Given the description of an element on the screen output the (x, y) to click on. 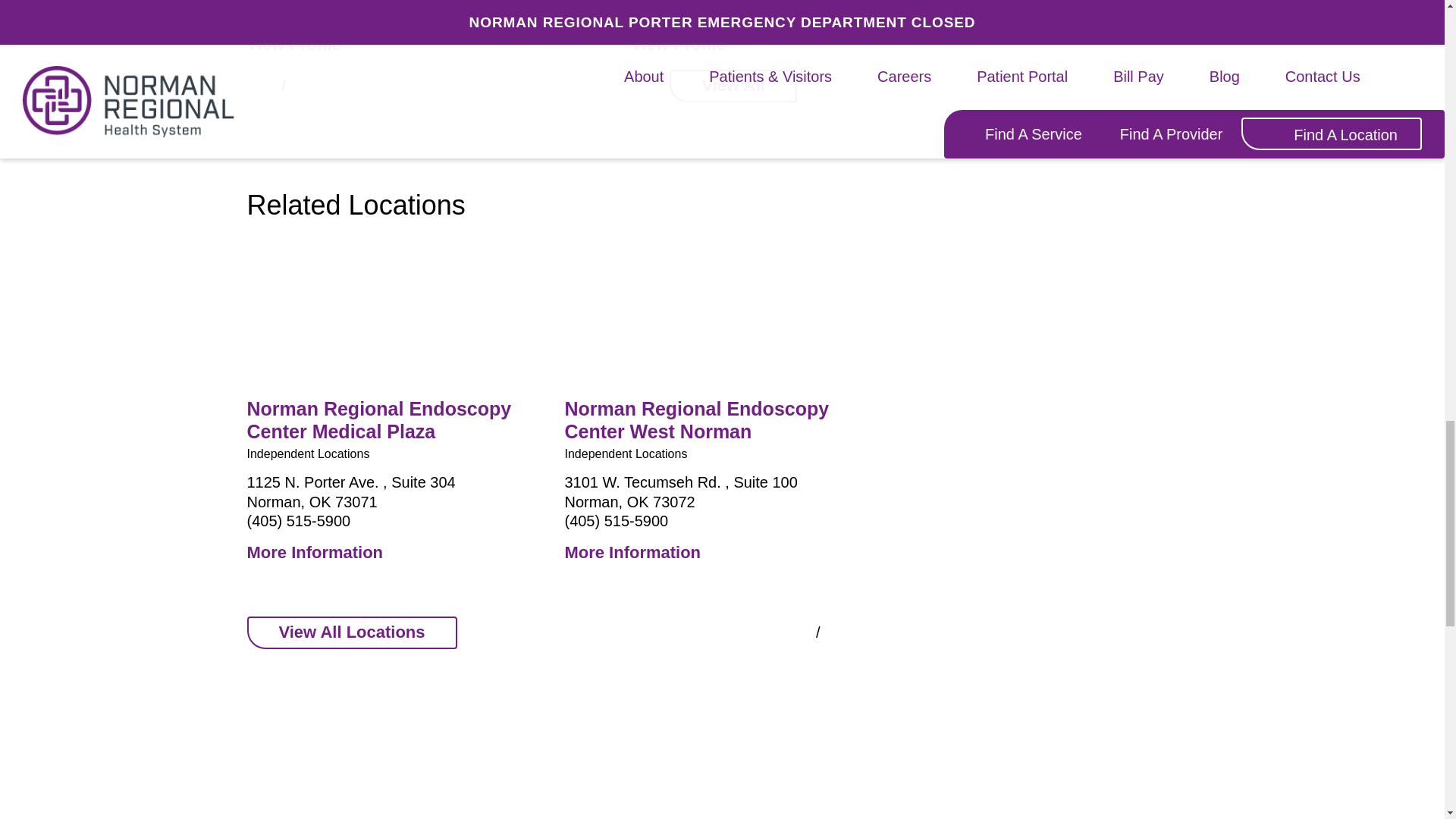
View next item (315, 86)
View previous item (786, 632)
View previous item (252, 86)
View next item (850, 632)
